Given the description of an element on the screen output the (x, y) to click on. 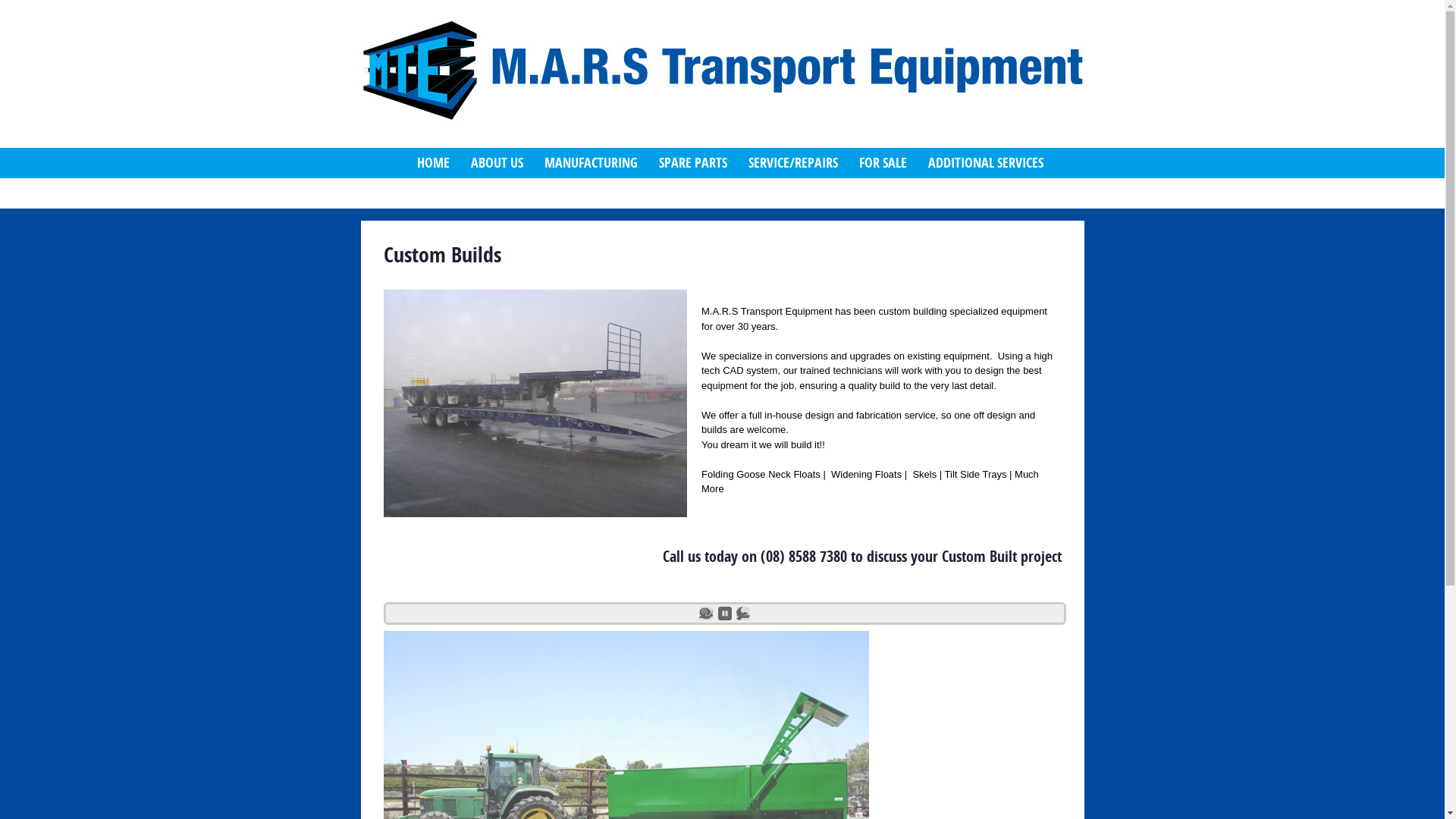
HOME Element type: text (433, 162)
Faster Element type: hover (742, 613)
SPARE PARTS Element type: text (692, 162)
CONTACT US Element type: text (449, 193)
FOR SALE Element type: text (881, 162)
Start / stop slideshow Element type: hover (724, 613)
SERVICE/REPAIRS Element type: text (792, 162)
ABOUT US Element type: text (496, 162)
Slower Element type: hover (705, 613)
ADDITIONAL SERVICES Element type: text (985, 162)
MANUFACTURING Element type: text (590, 162)
